Given the description of an element on the screen output the (x, y) to click on. 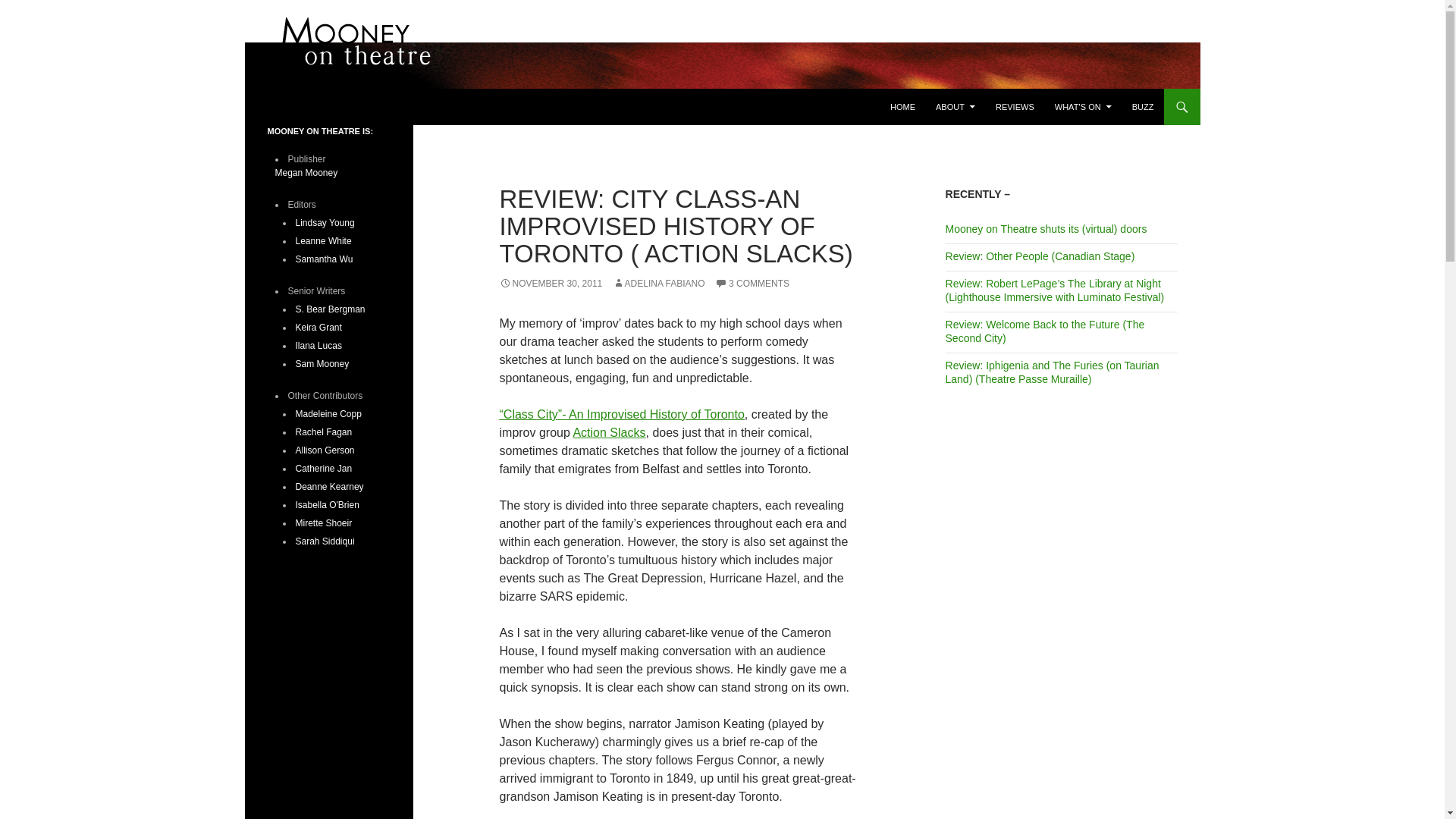
REVIEWS (1015, 106)
NOVEMBER 30, 2011 (550, 283)
BUZZ (1142, 106)
3 COMMENTS (751, 283)
Mooney on Theatre (328, 106)
Lindsay Young (325, 222)
ABOUT (955, 106)
Samantha Wu (324, 258)
Megan Mooney (306, 172)
Keira Grant (318, 327)
